Given the description of an element on the screen output the (x, y) to click on. 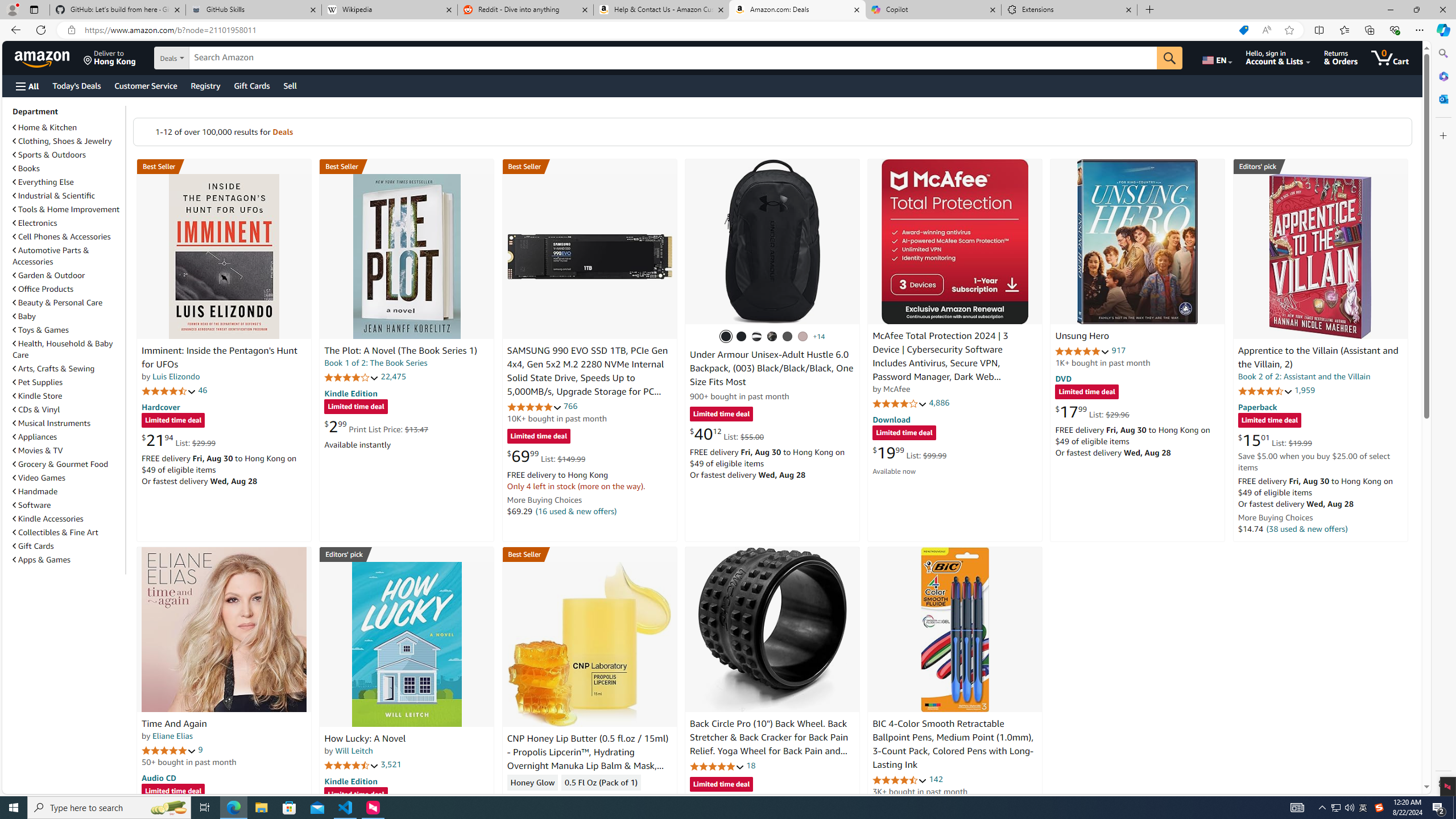
Electronics (34, 222)
Industrial & Scientific (54, 195)
Health, Household & Baby Care (63, 349)
766 (570, 406)
Amazon.com: Deals (797, 9)
Handmade (67, 491)
Registry (205, 85)
4,886 (938, 402)
